Given the description of an element on the screen output the (x, y) to click on. 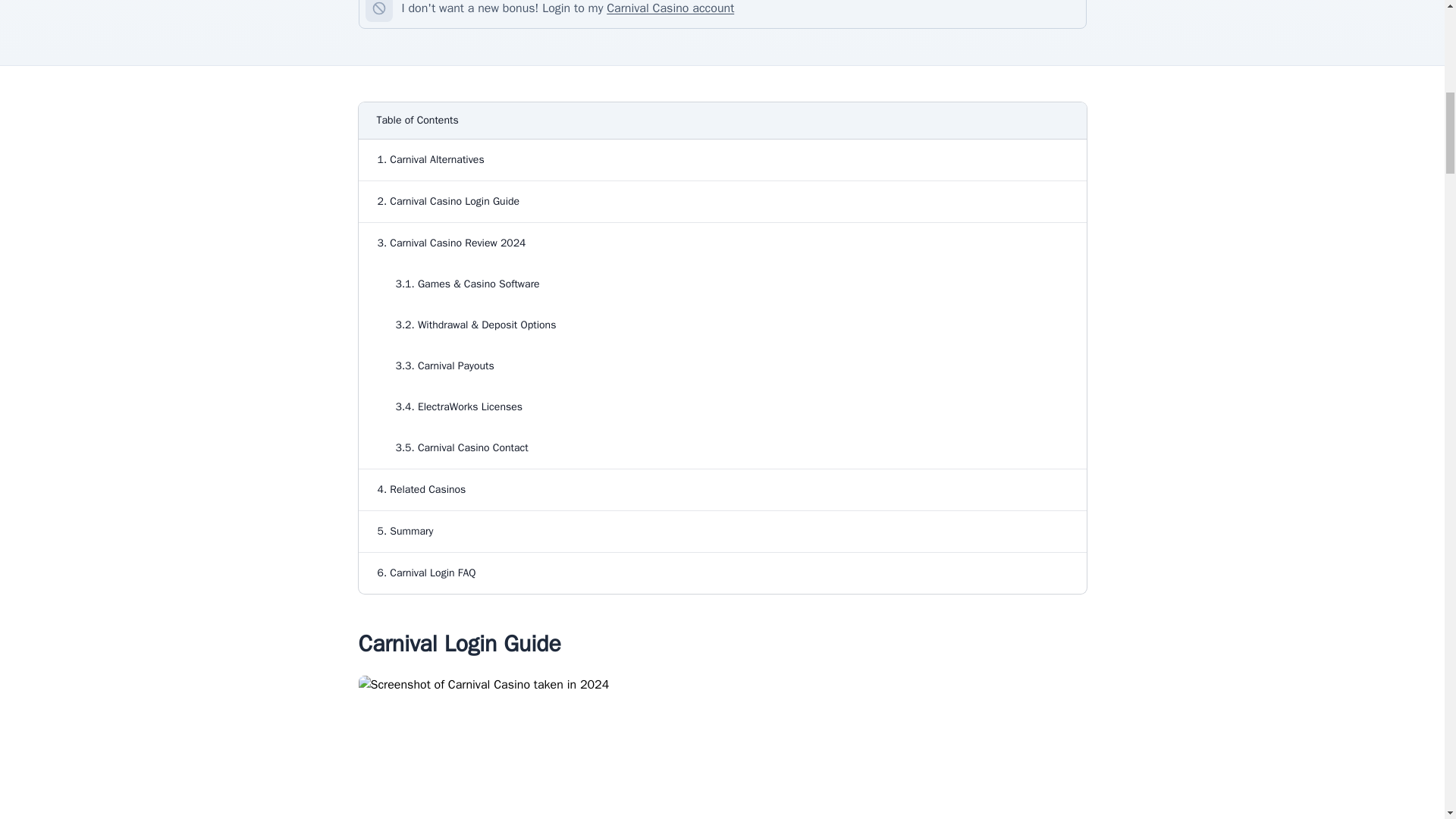
6. Carnival Login FAQ (722, 572)
3. Carnival Casino Review 2024 (722, 242)
2. Carnival Casino Login Guide (722, 201)
1. Carnival Alternatives (722, 159)
3.5. Carnival Casino Contact (722, 447)
3.3. Carnival Payouts (722, 365)
Carnival Casino account (670, 7)
3.4. ElectraWorks Licenses (722, 406)
5. Summary (722, 531)
Screenshot of Carnival Casino taken in 2024 (722, 747)
